Given the description of an element on the screen output the (x, y) to click on. 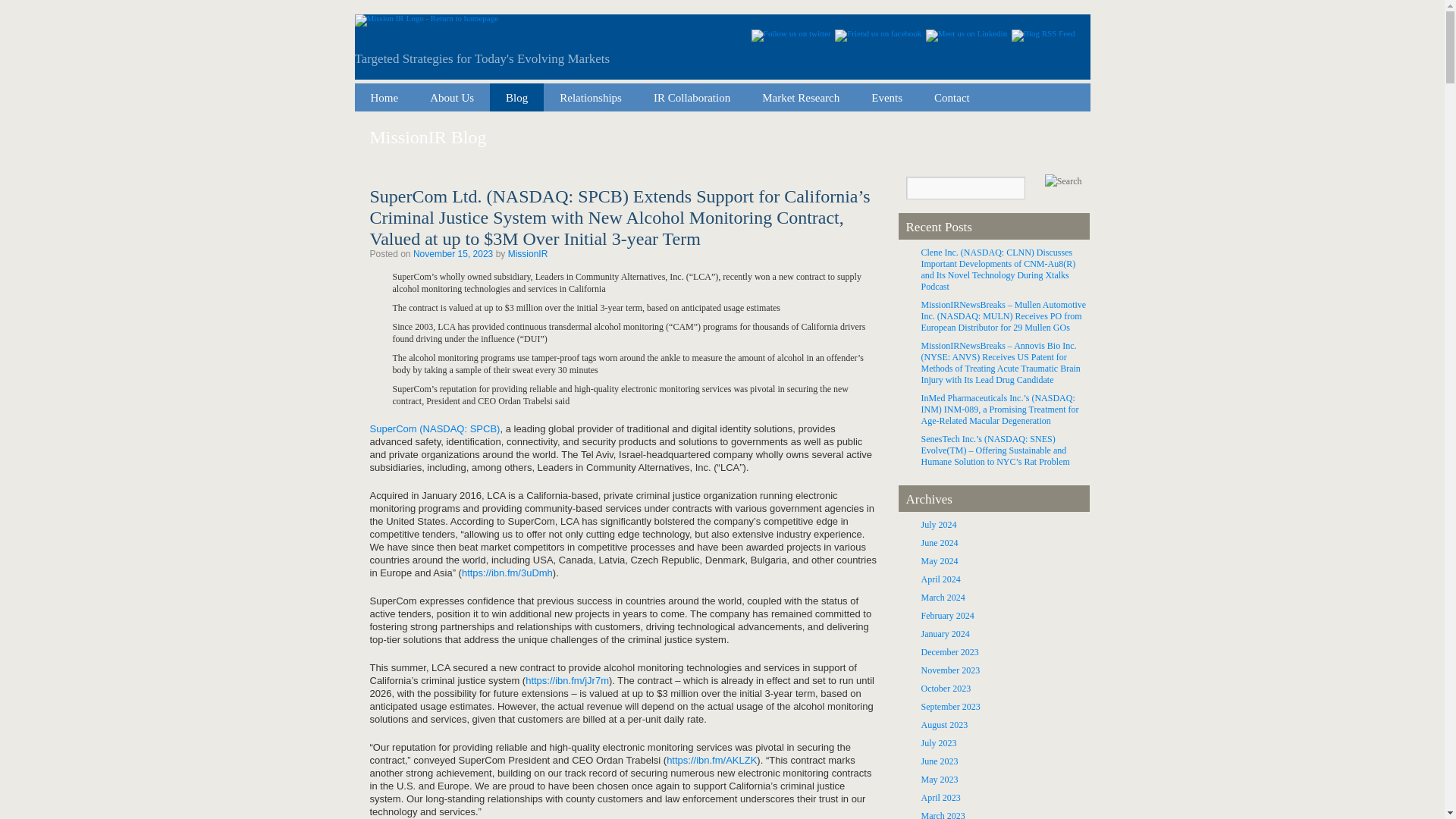
Relationships (590, 97)
November 15, 2023 (453, 253)
Market Research (800, 97)
View all posts by MissionIR (528, 253)
About Us (451, 97)
Events (887, 97)
IR Collaboration (691, 97)
Home (384, 97)
Blog (516, 97)
8:00 am (453, 253)
Contact (952, 97)
MissionIR (528, 253)
